Given the description of an element on the screen output the (x, y) to click on. 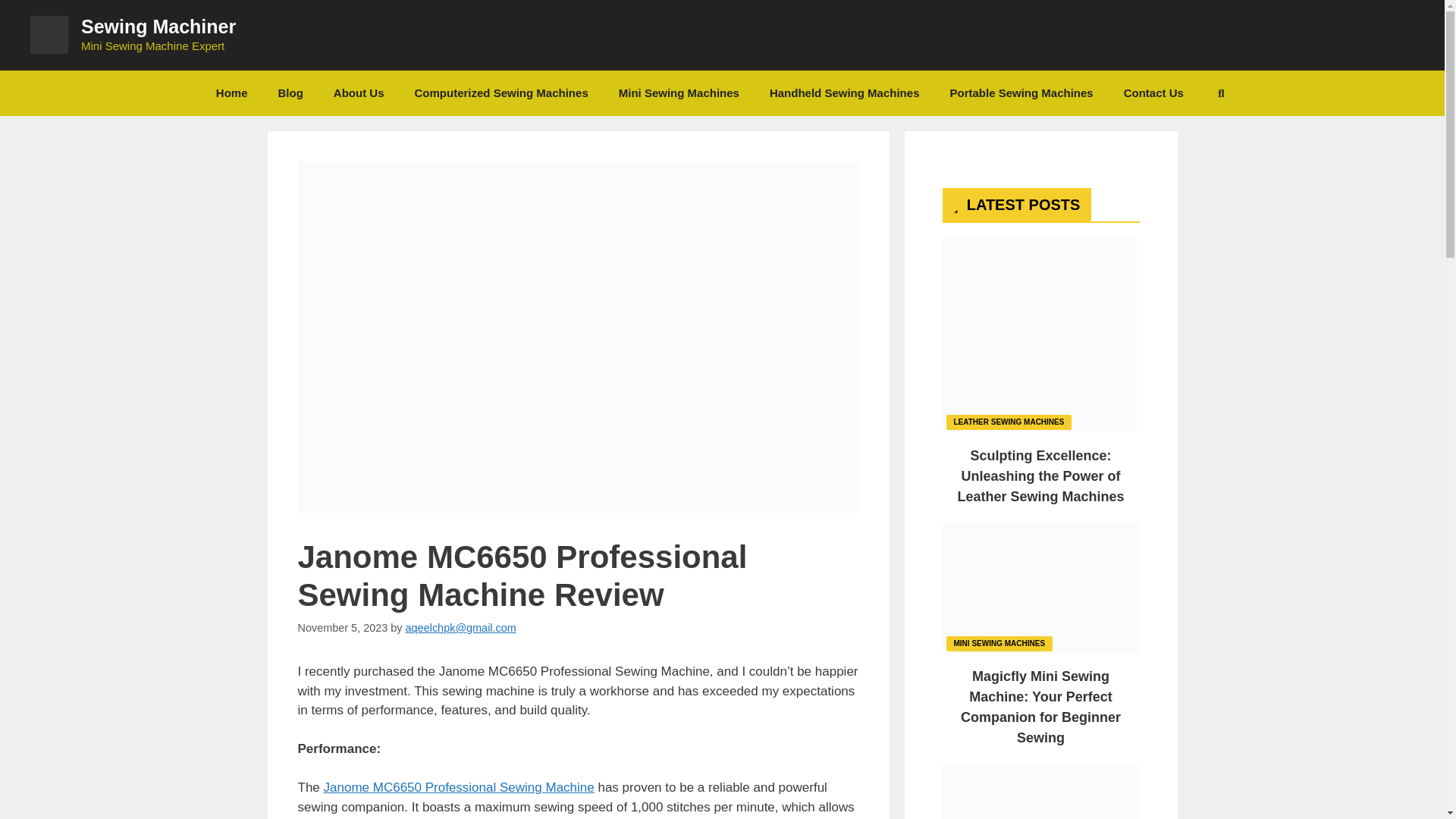
Blog (290, 92)
Contact Us (1153, 92)
Sewing Machiner (158, 25)
Mini Sewing Machines (679, 92)
Computerized Sewing Machines (501, 92)
LEATHER SEWING MACHINES (1008, 420)
Handheld Sewing Machines (844, 92)
Home (231, 92)
MINI SEWING MACHINES (999, 641)
Portable Sewing Machines (1021, 92)
Janome MC6650 Professional Sewing Machine (458, 787)
About Us (358, 92)
